Given the description of an element on the screen output the (x, y) to click on. 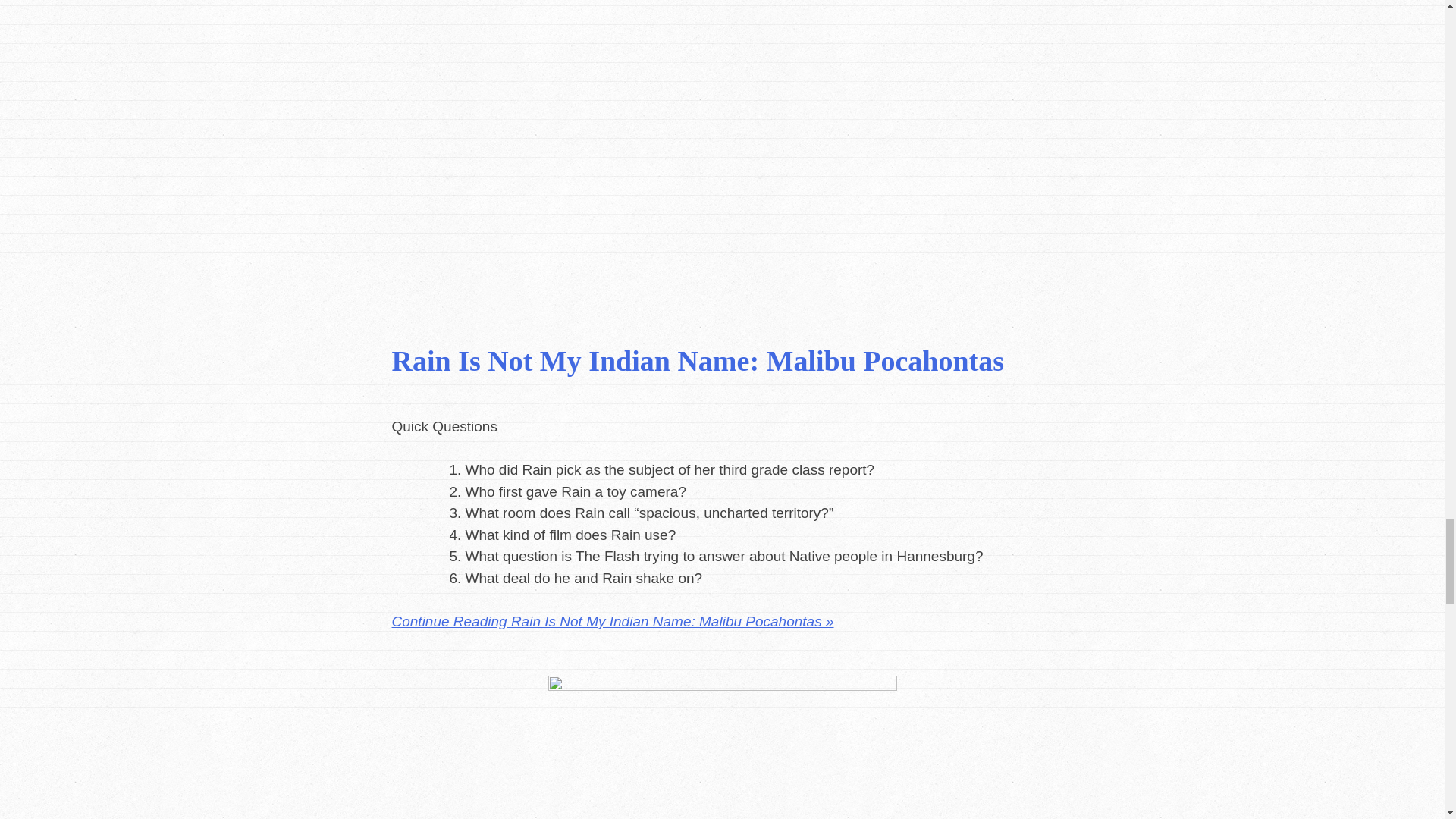
Rain Is Not My Indian Name: Malibu Pocahontas (697, 360)
